Given the description of an element on the screen output the (x, y) to click on. 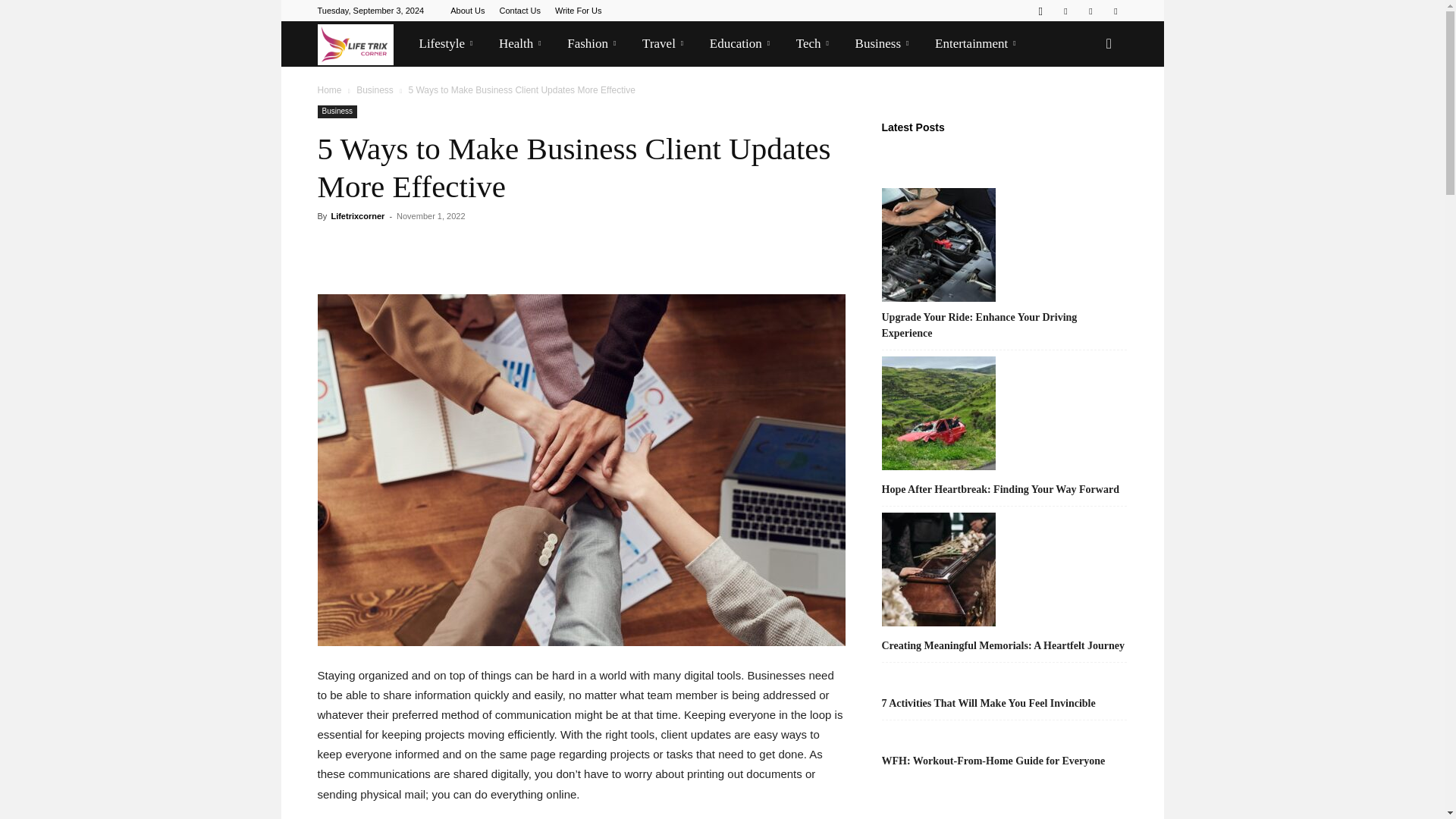
Lifetrixcorner (355, 44)
Write For Us (578, 10)
Pinterest (1065, 10)
Instagram (1040, 10)
Twitter (1090, 10)
Youtube (1114, 10)
Contact Us (519, 10)
About Us (466, 10)
